Given the description of an element on the screen output the (x, y) to click on. 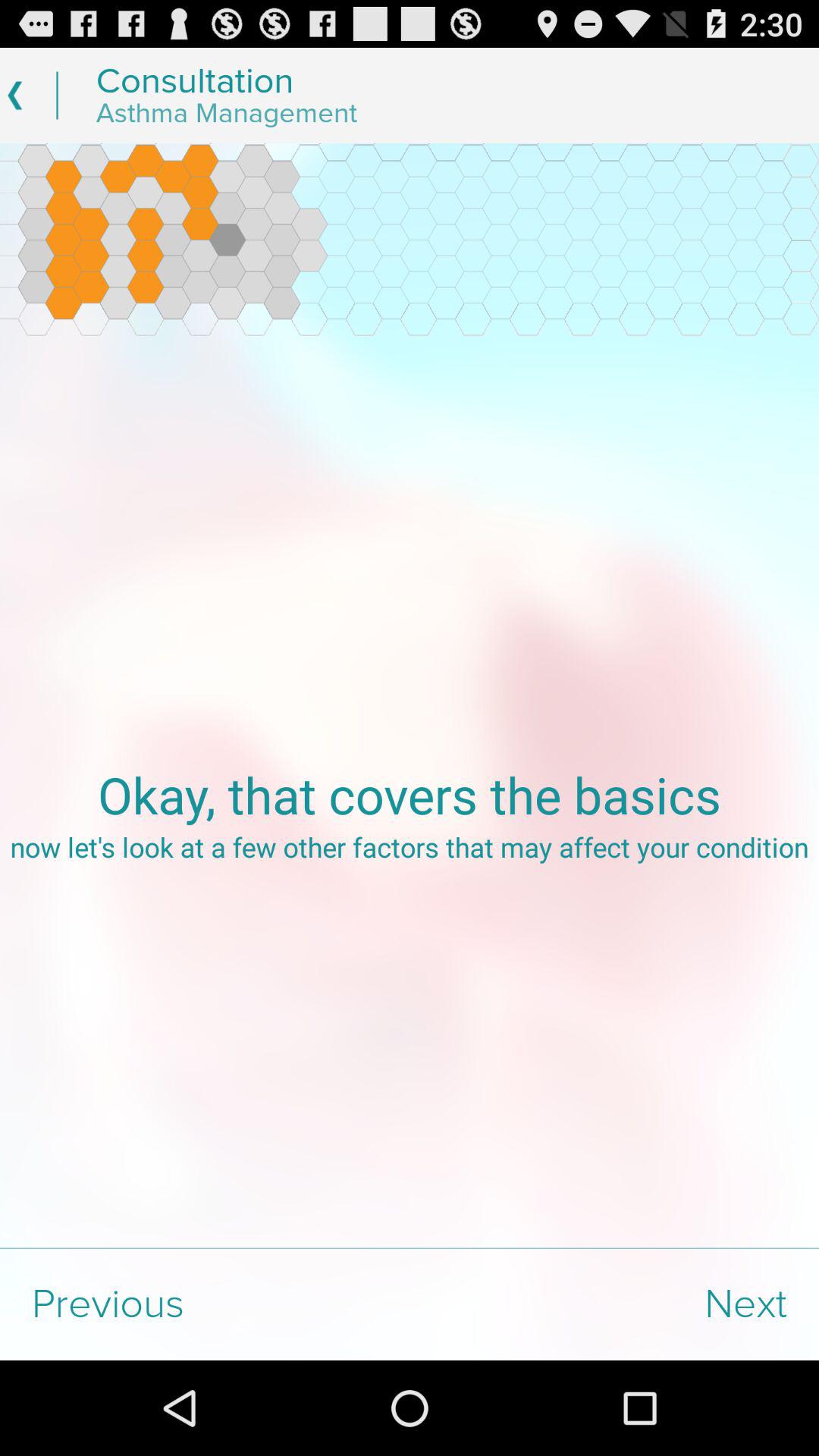
swipe to previous item (204, 1304)
